Given the description of an element on the screen output the (x, y) to click on. 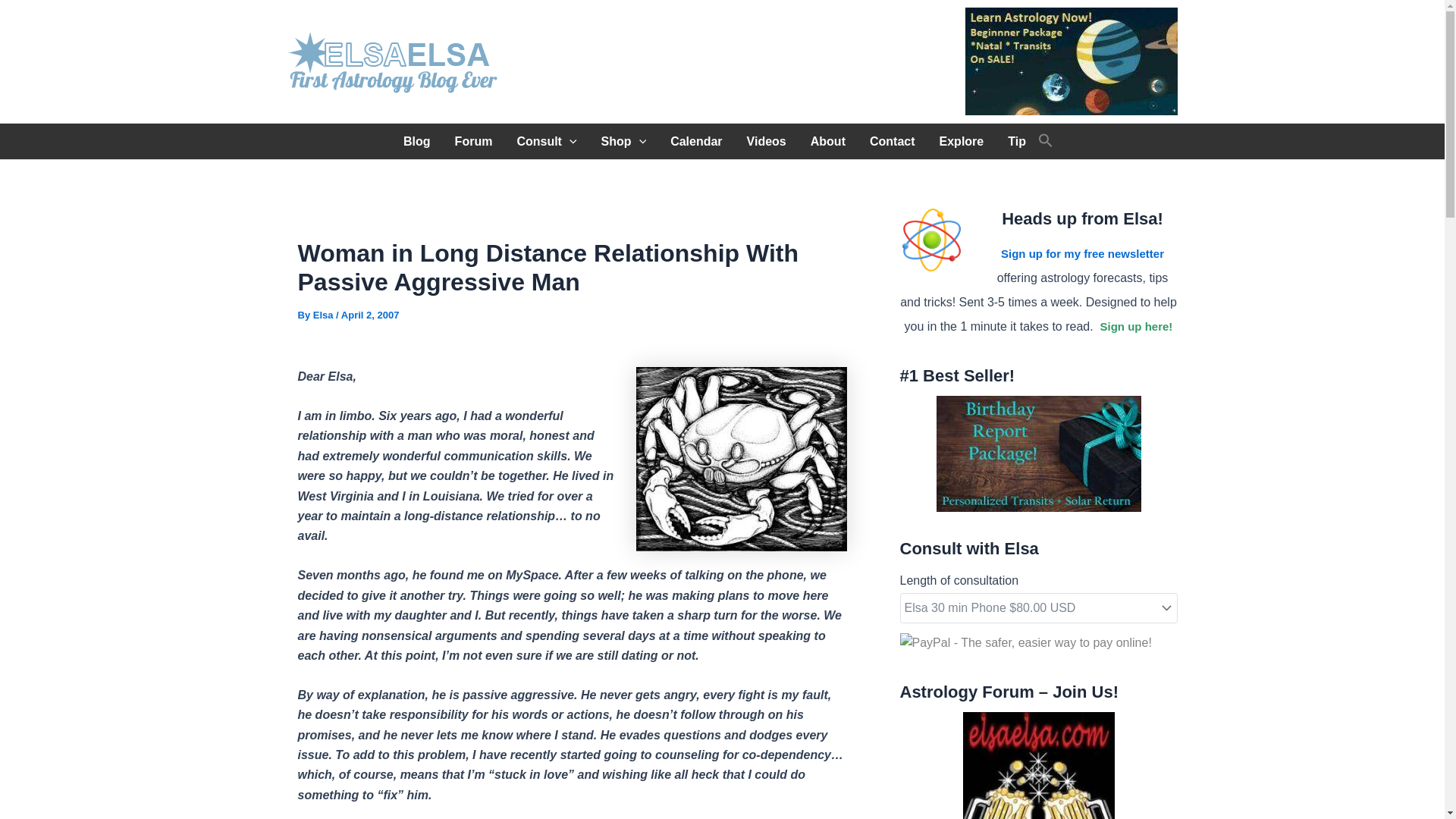
Explore (961, 140)
Tip (1016, 140)
Videos (766, 140)
Shop (624, 140)
View all posts by Elsa (324, 315)
Forum (473, 140)
Calendar (695, 140)
Contact (892, 140)
Blog (416, 140)
Elsa (324, 315)
Consult (545, 140)
About (827, 140)
